Given the description of an element on the screen output the (x, y) to click on. 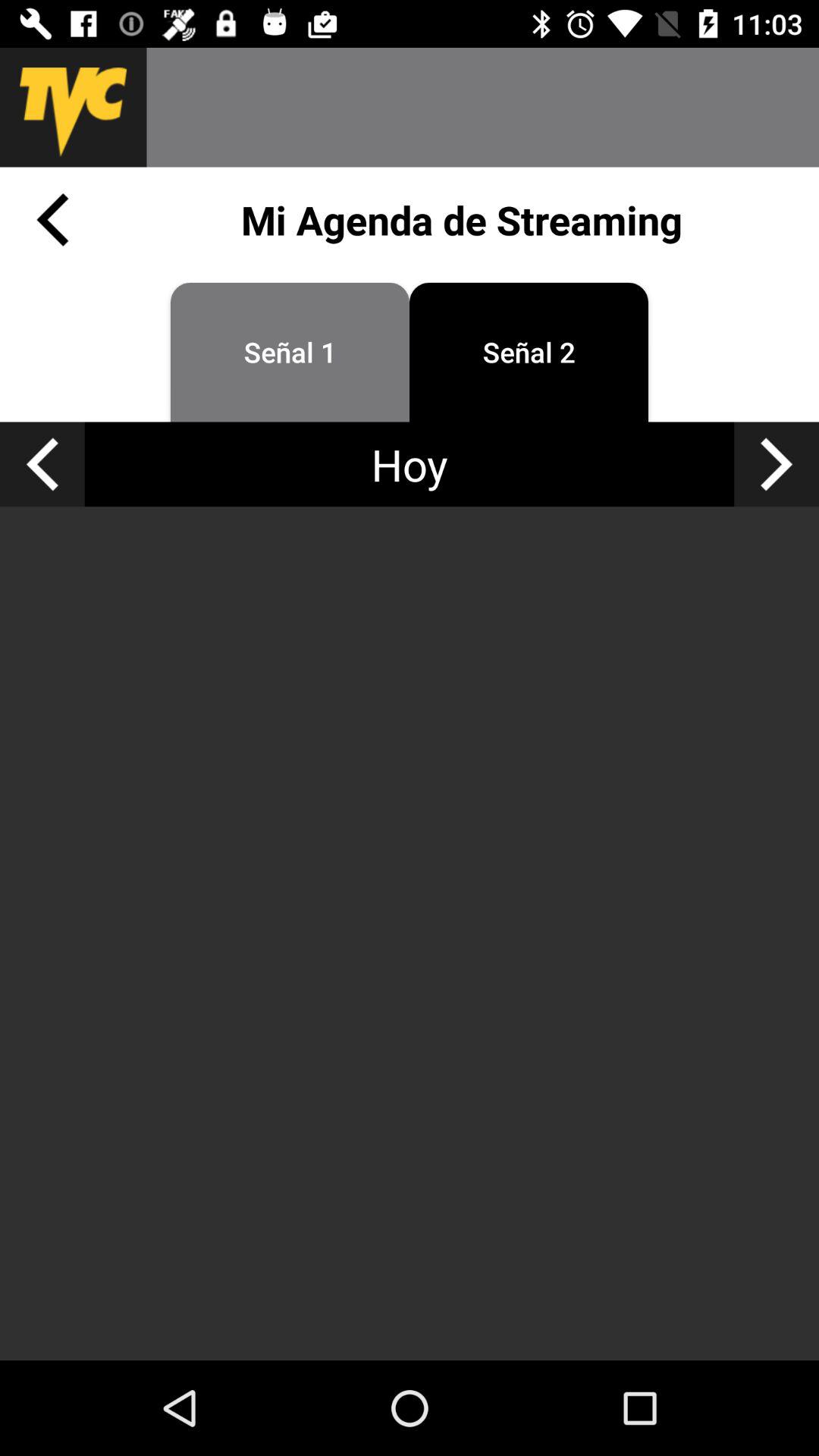
go to previous (52, 219)
